Given the description of an element on the screen output the (x, y) to click on. 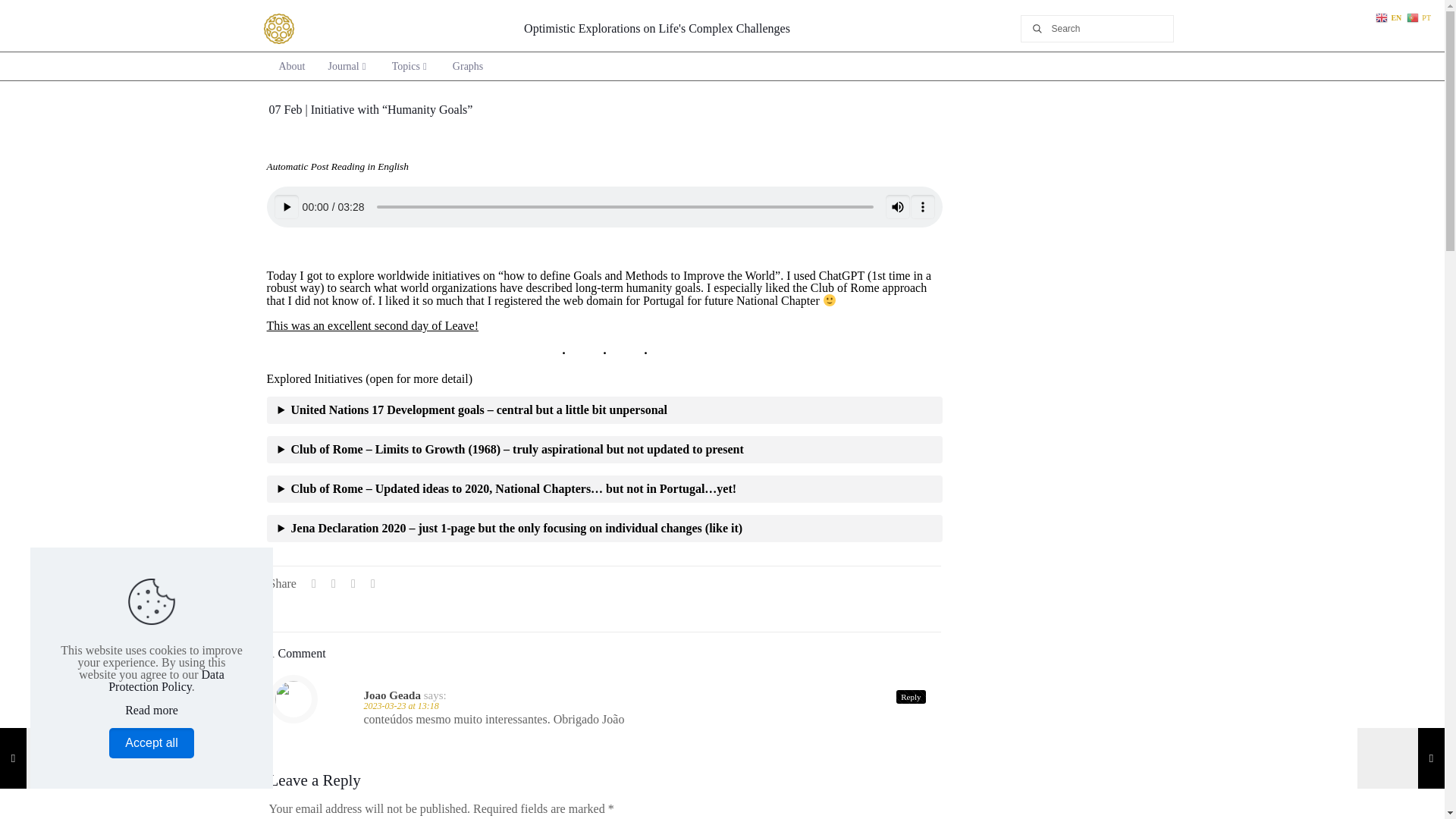
Journal (348, 66)
Topics (411, 66)
English (1389, 16)
Mute (897, 206)
About (291, 66)
More (922, 206)
Graphs (467, 66)
Portuguese (1419, 16)
Play (286, 206)
